Given the description of an element on the screen output the (x, y) to click on. 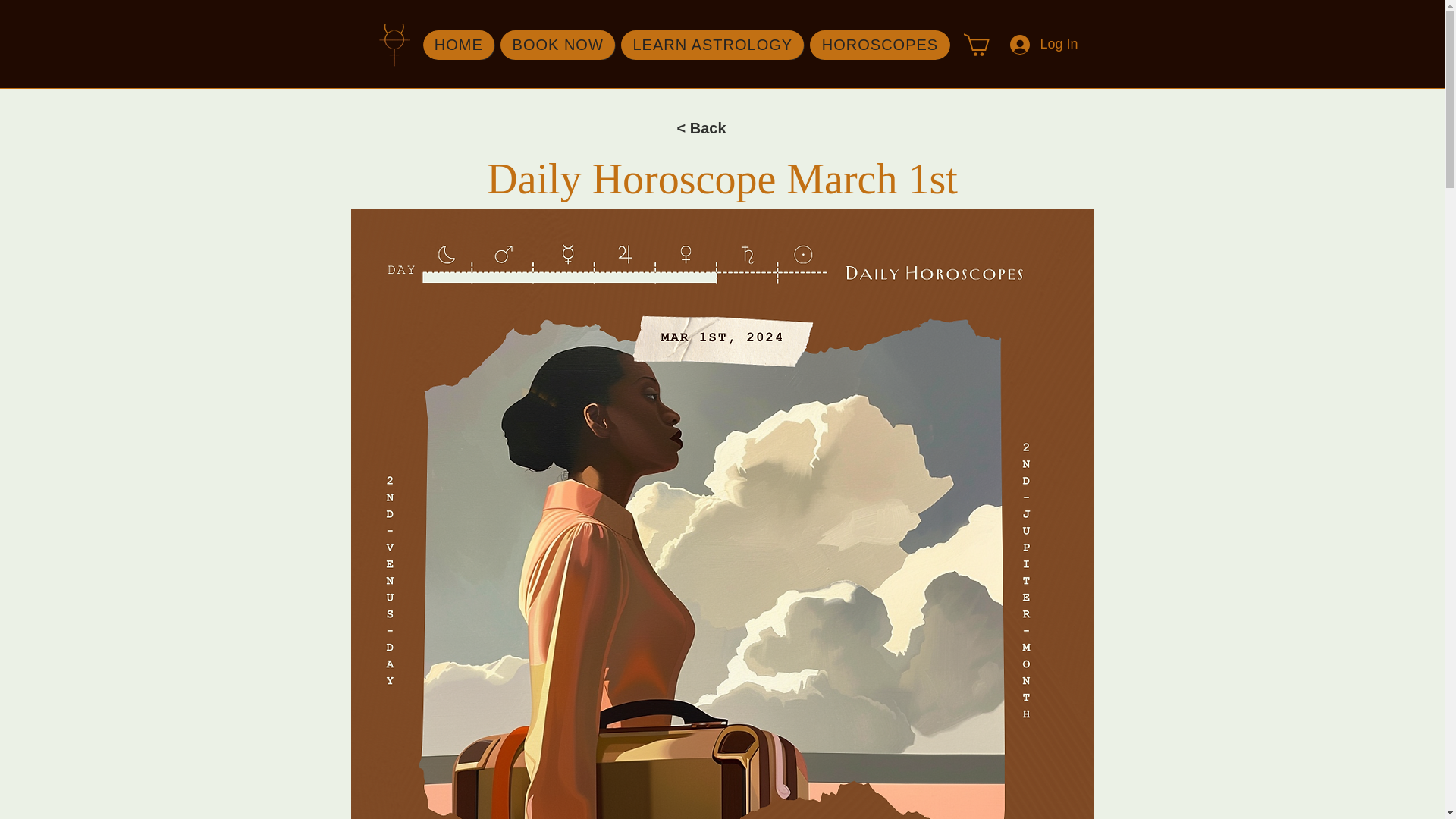
Logo White.png (394, 45)
Log In (686, 44)
BOOK NOW (1041, 44)
HOME (557, 44)
LEARN ASTROLOGY (459, 44)
HOROSCOPES (712, 44)
